Given the description of an element on the screen output the (x, y) to click on. 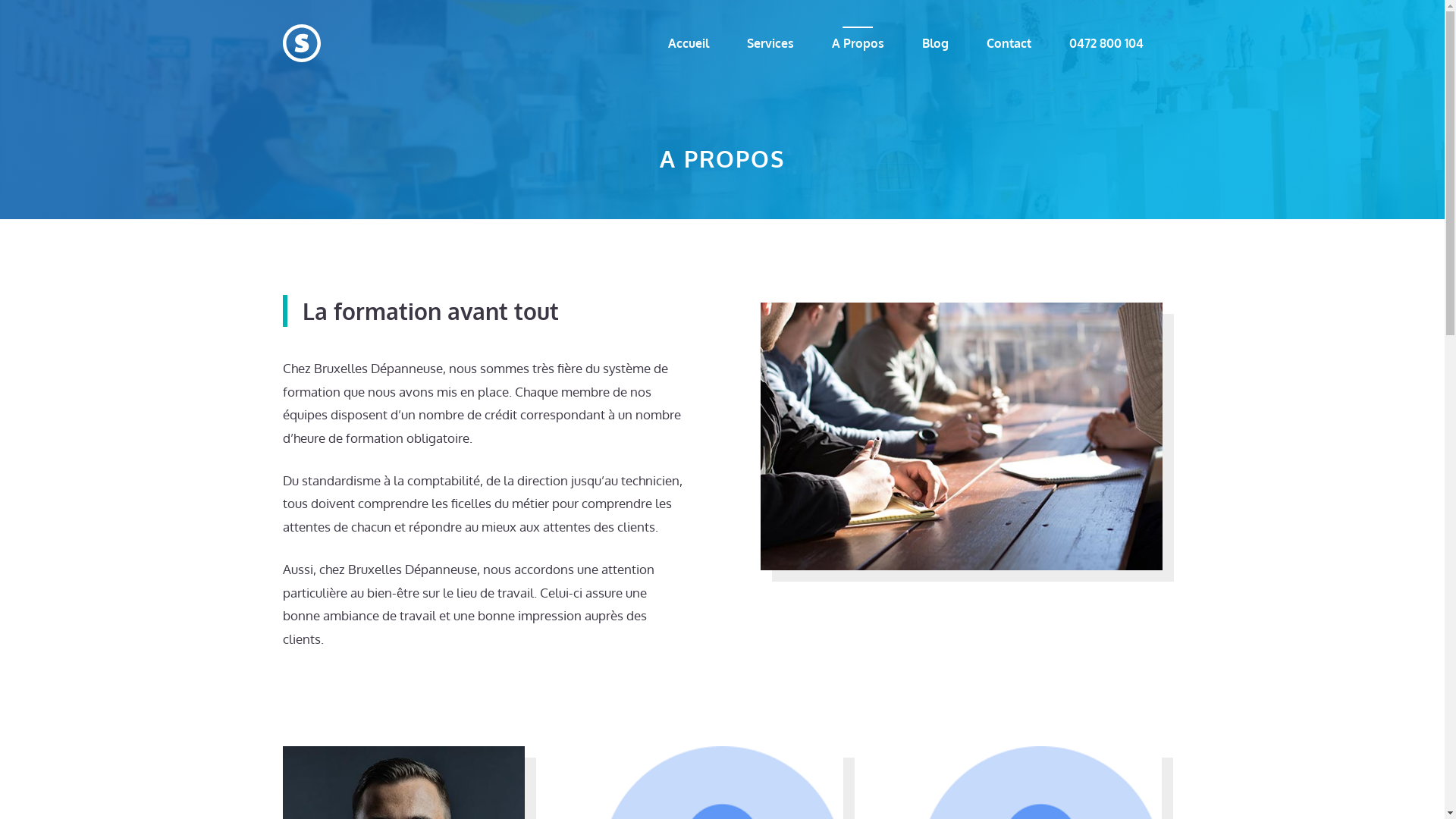
Services Element type: text (770, 42)
Contact Element type: text (1008, 42)
Blog Element type: text (934, 42)
0472 800 104 Element type: text (1105, 42)
A Propos Element type: text (857, 42)
Accueil Element type: text (688, 42)
